Given the description of an element on the screen output the (x, y) to click on. 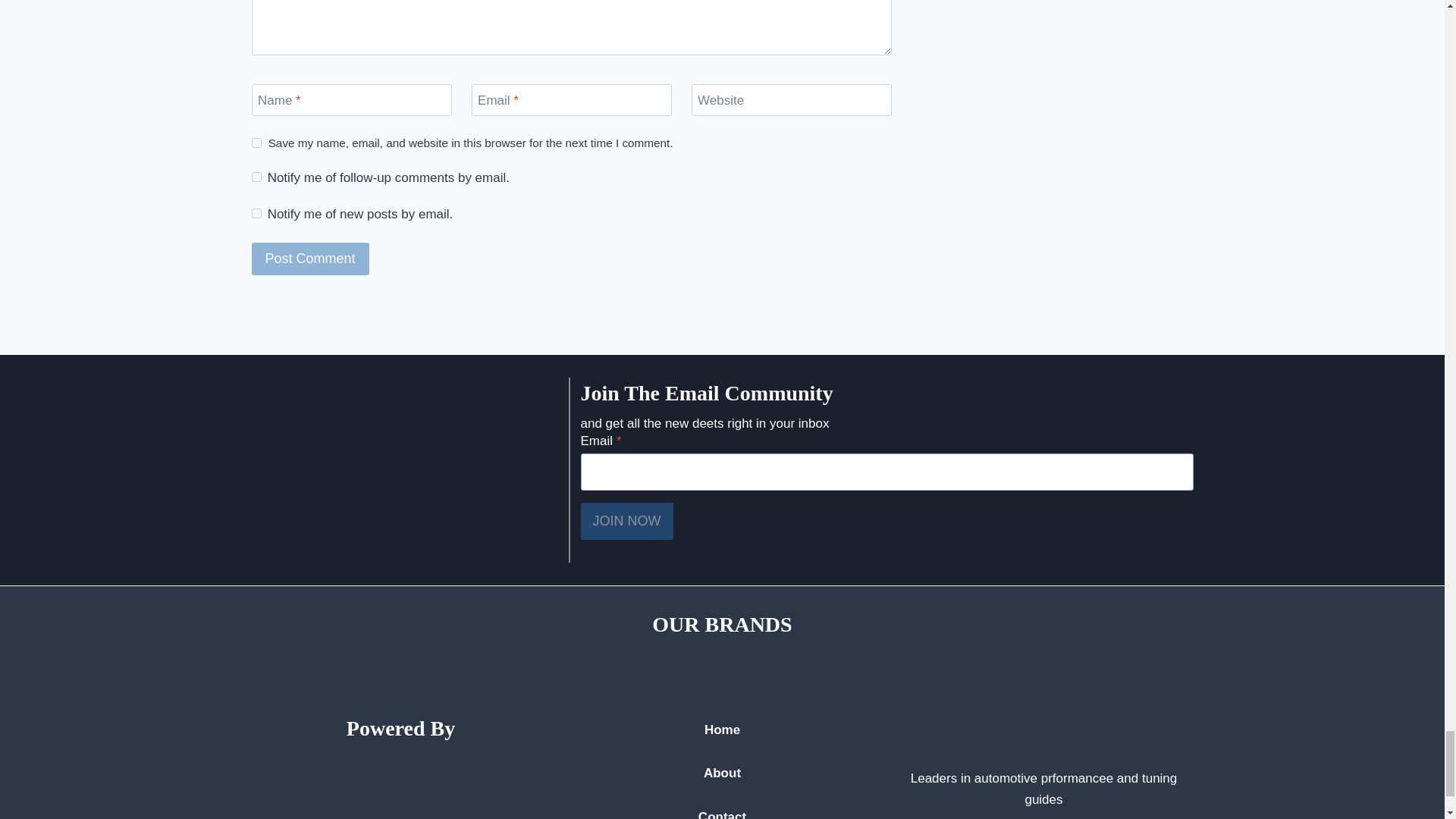
Post Comment (310, 258)
yes (256, 143)
subscribe (256, 176)
subscribe (256, 213)
